Given the description of an element on the screen output the (x, y) to click on. 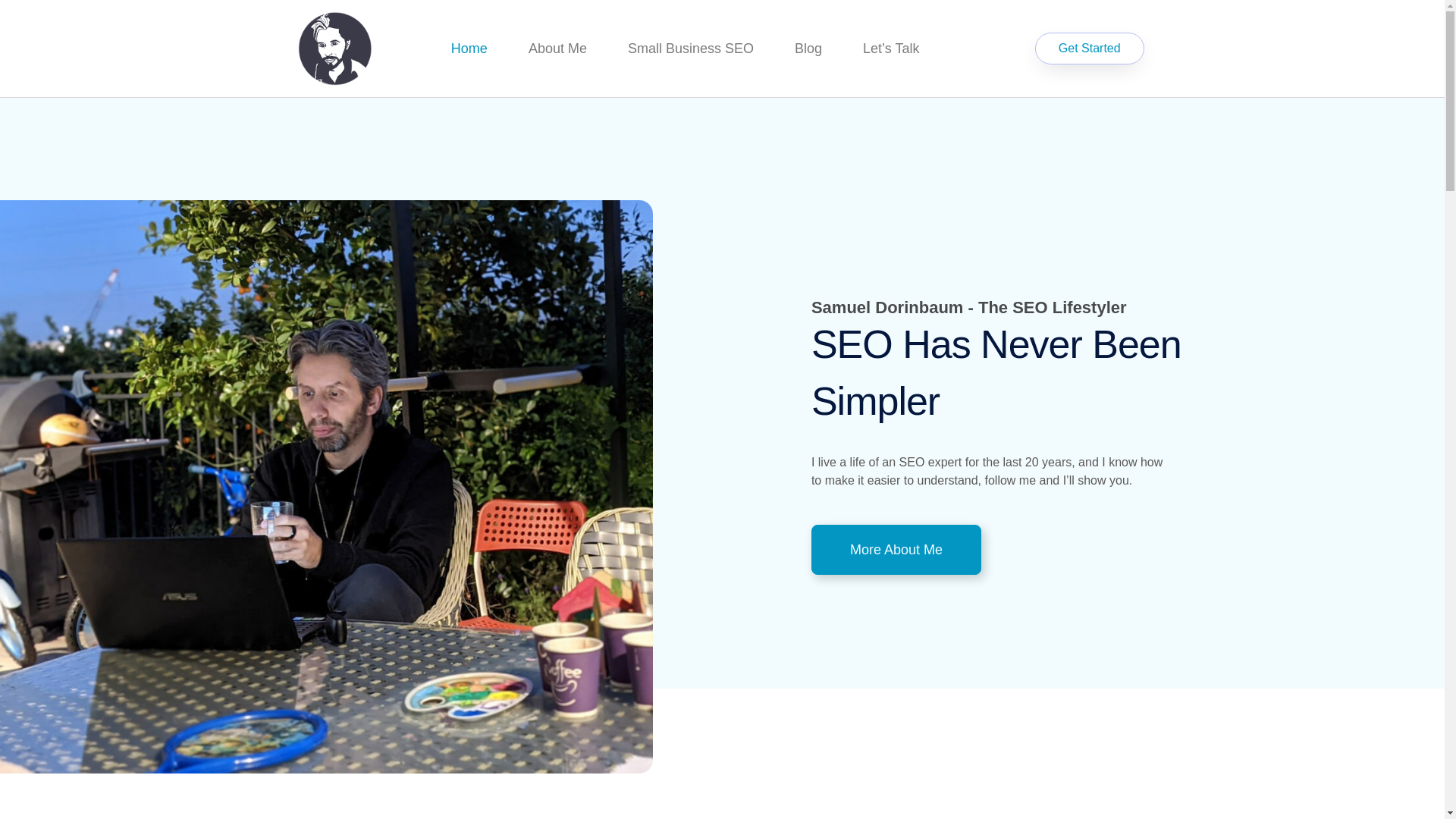
About Me (557, 48)
More About Me (895, 549)
Blog (808, 48)
Get Started (1089, 48)
Small Business SEO (690, 48)
Home (469, 48)
